Given the description of an element on the screen output the (x, y) to click on. 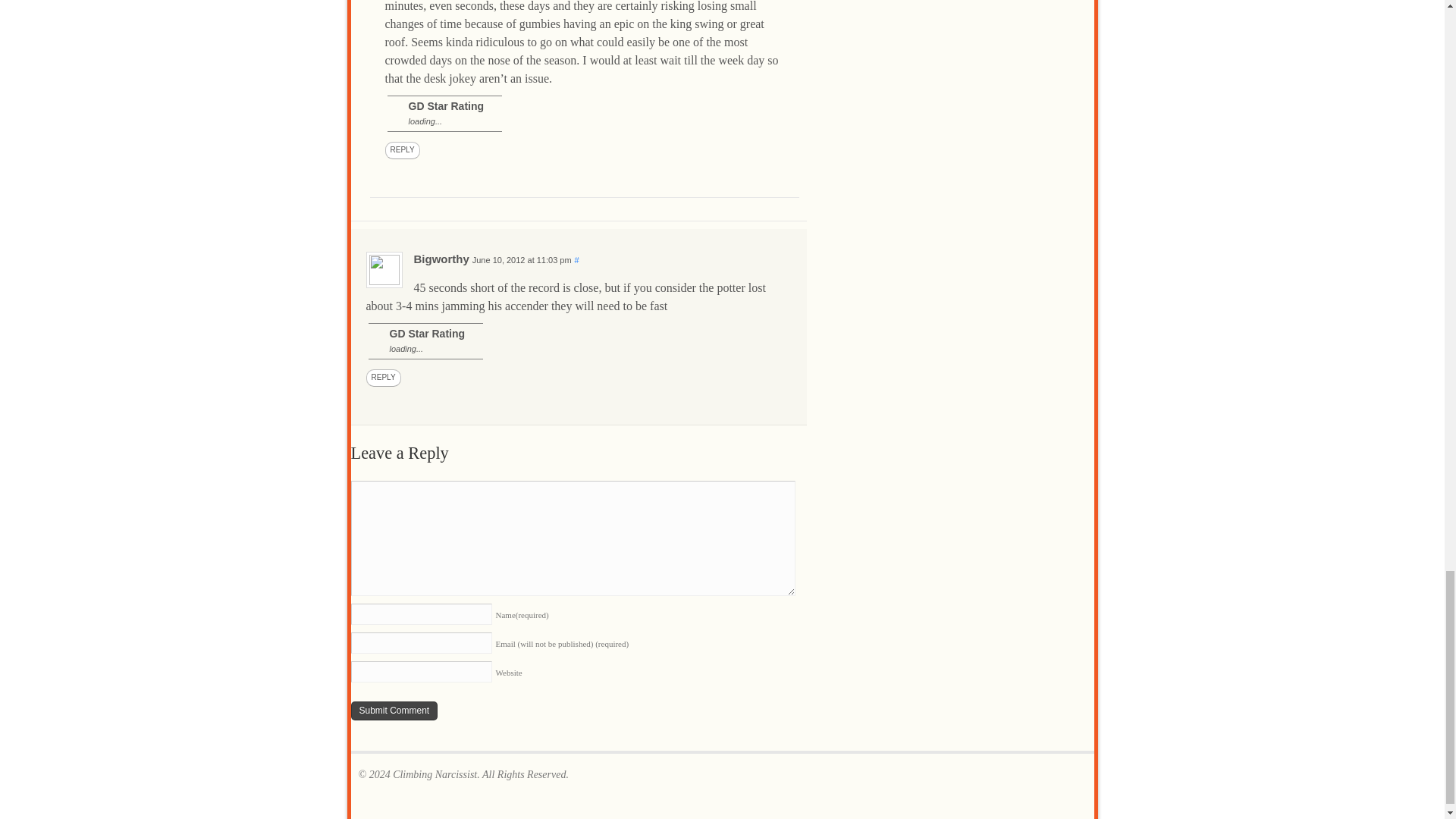
Submit Comment (394, 710)
